Given the description of an element on the screen output the (x, y) to click on. 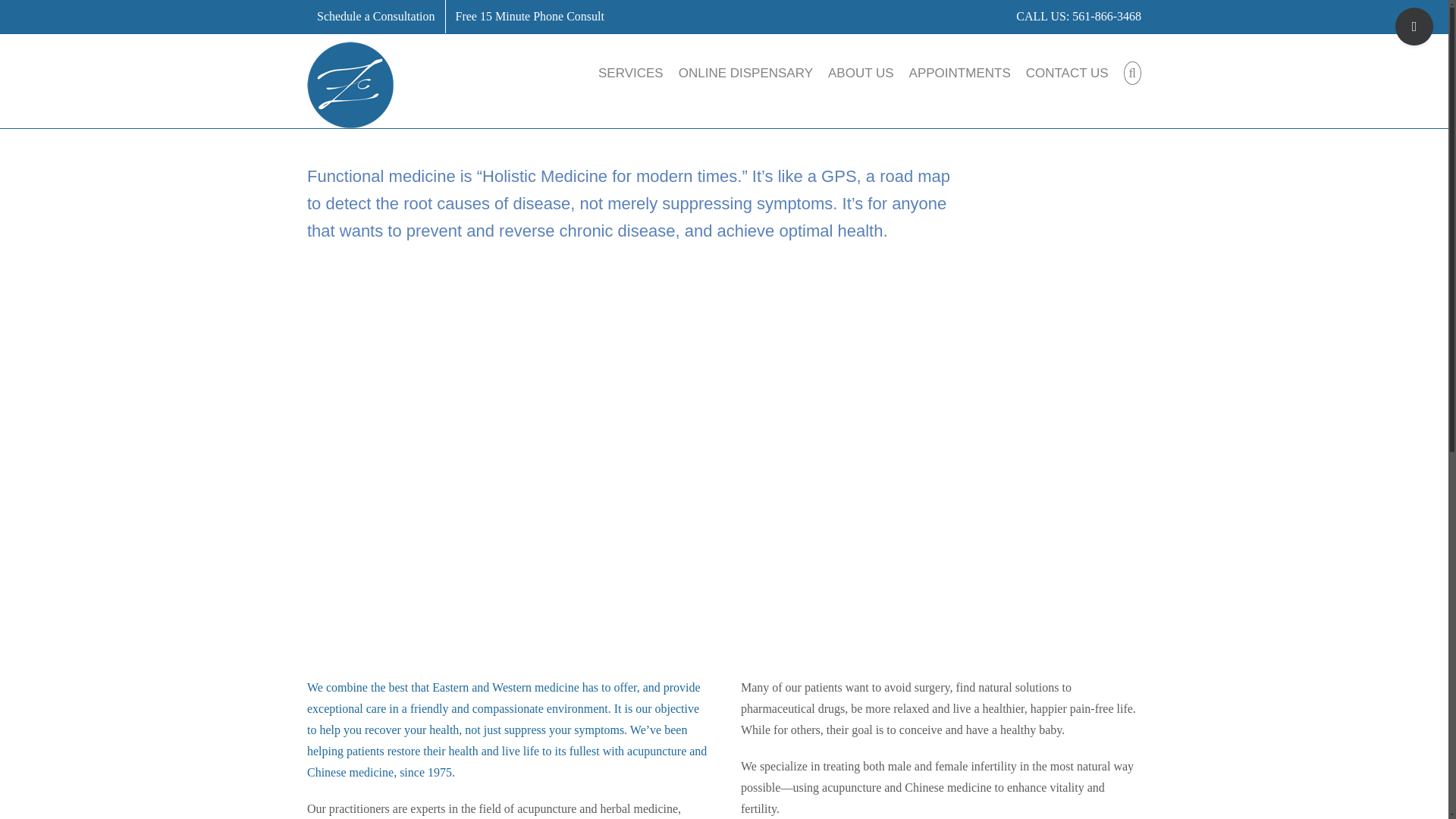
Search (1132, 71)
Free 15 Minute Phone Consult (529, 16)
ABOUT US (860, 71)
ONLINE DISPENSARY (745, 71)
Schedule a Consultation (376, 16)
APPOINTMENTS (959, 71)
CONTACT US (1067, 71)
CALL US: 561-866-3468 (1078, 15)
SERVICES (630, 71)
